Given the description of an element on the screen output the (x, y) to click on. 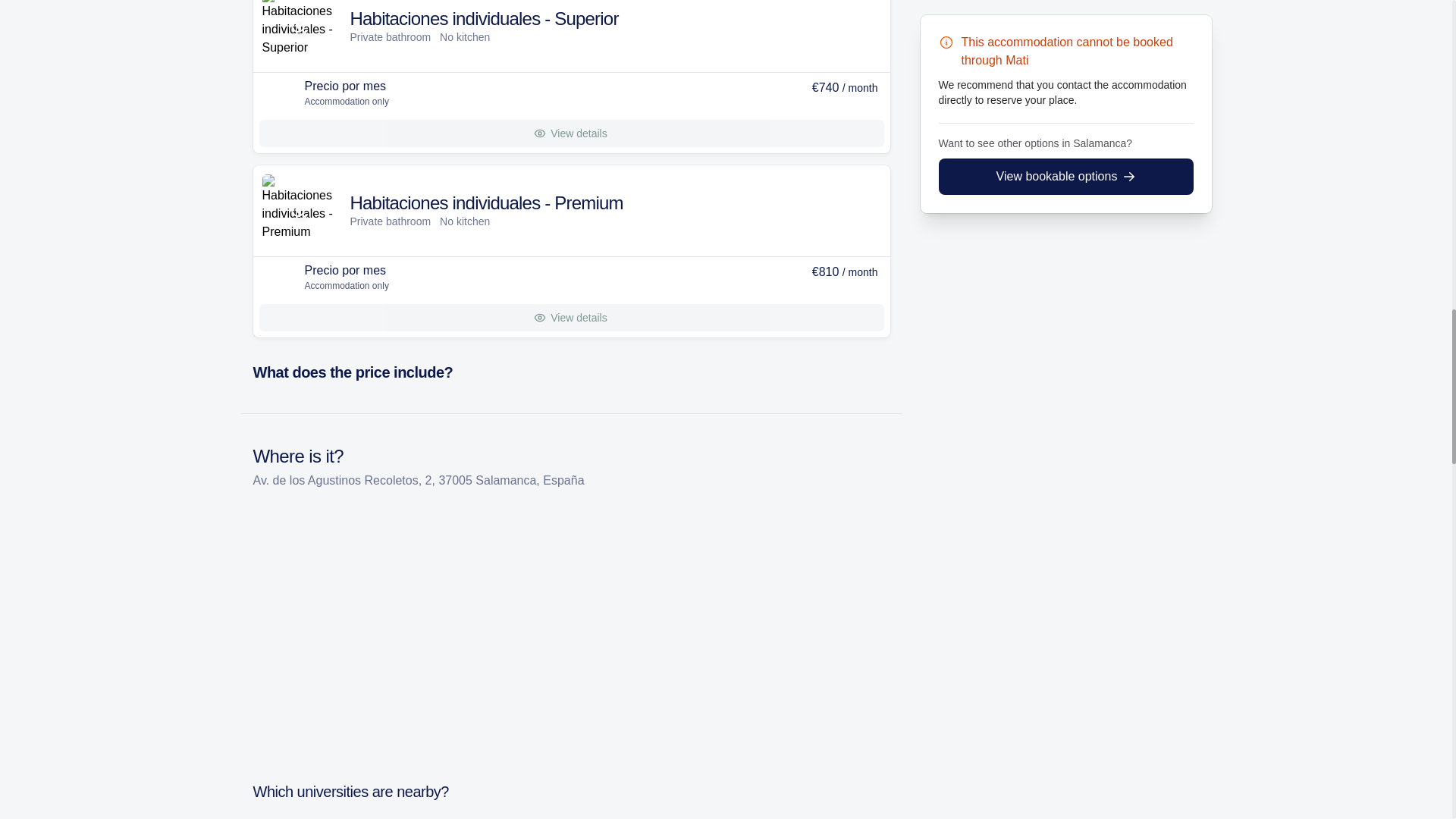
View details (571, 133)
View details (571, 317)
